Given the description of an element on the screen output the (x, y) to click on. 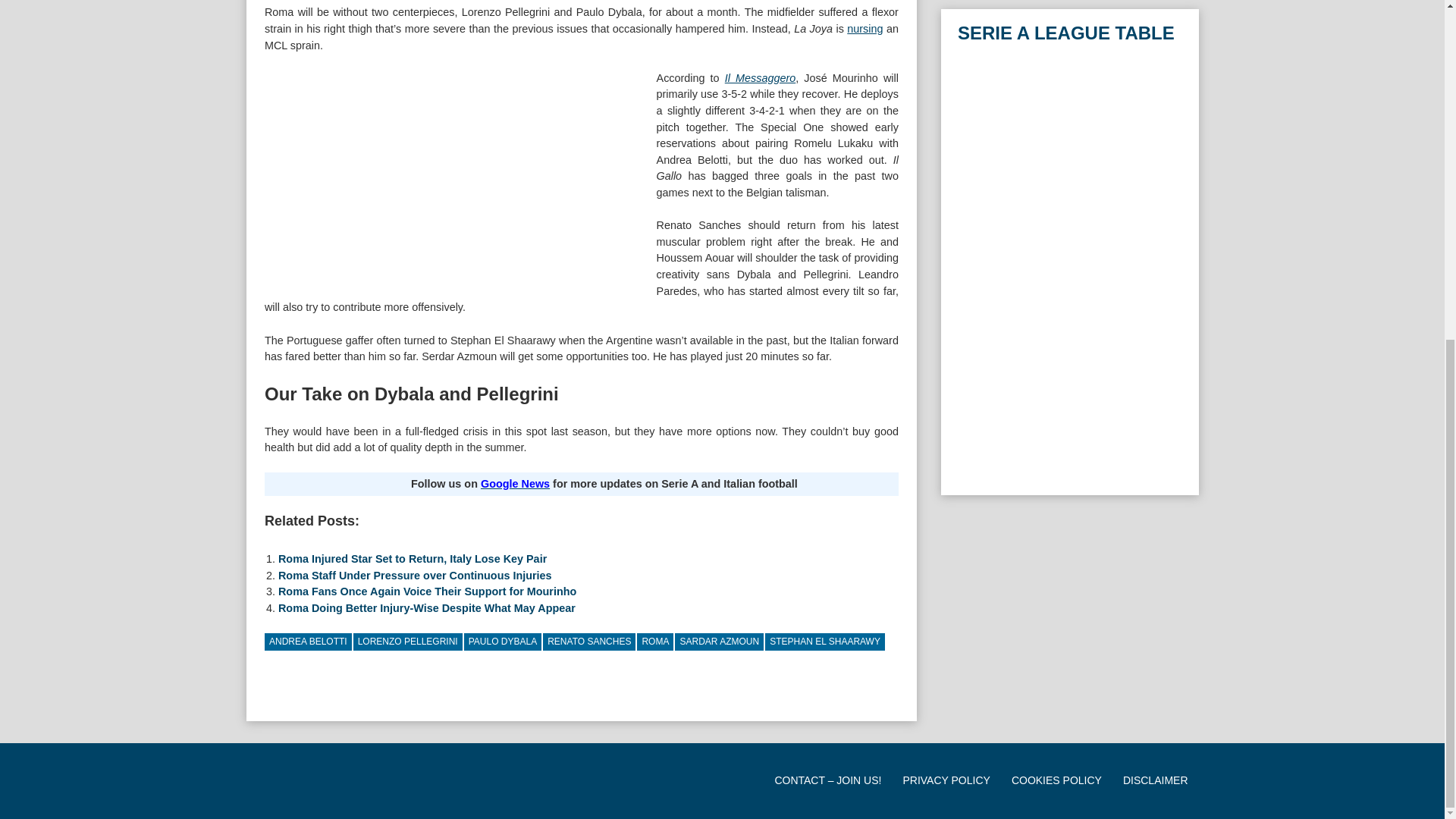
Roma Doing Better Injury-Wise Despite What May Appear (426, 607)
Roma Fans Once Again Voice Their Support for Mourinho (427, 591)
Roma Injured Star Set to Return, Italy Lose Key Pair (412, 558)
Roma Staff Under Pressure over Continuous Injuries (414, 575)
